Given the description of an element on the screen output the (x, y) to click on. 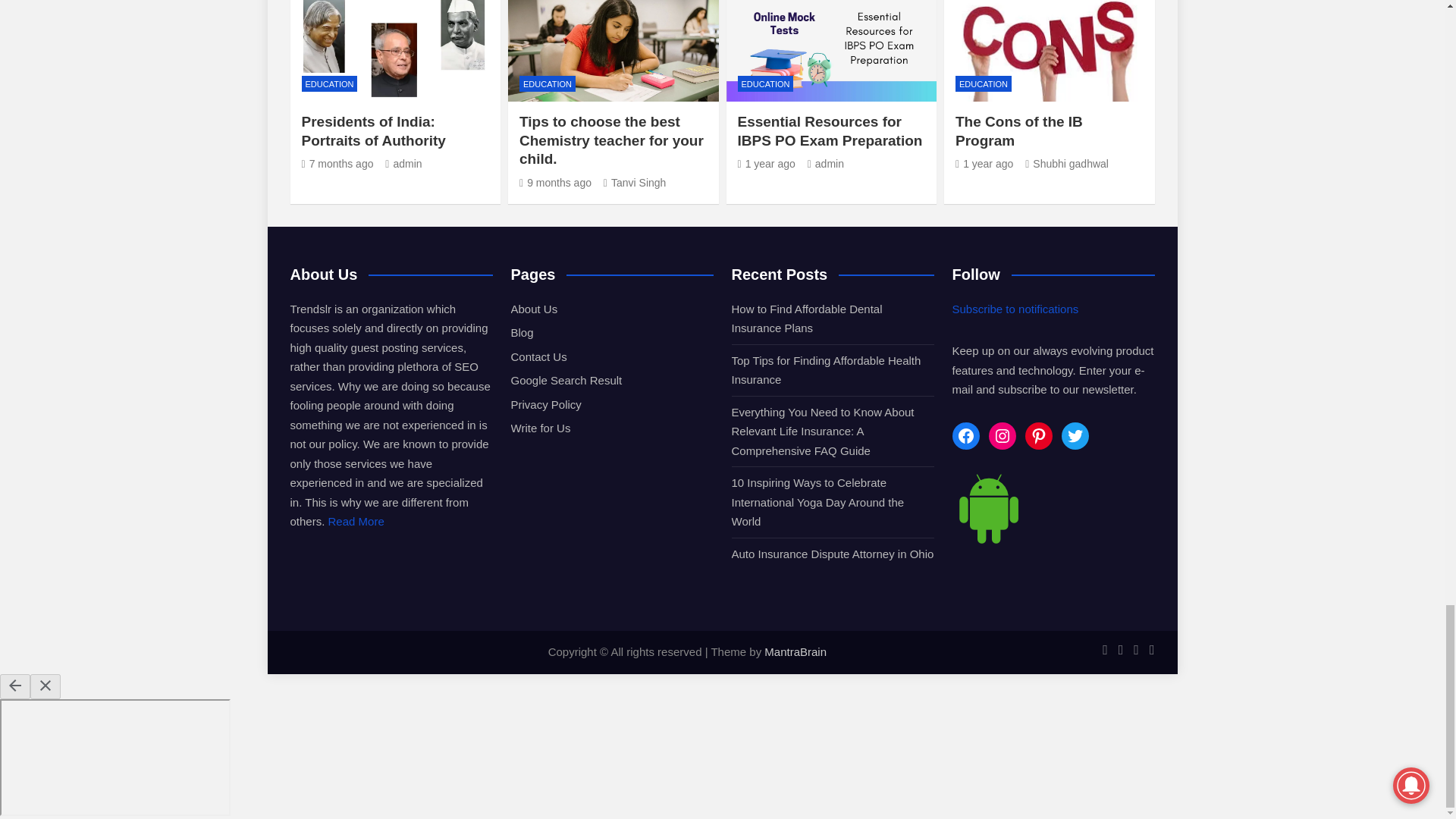
Essential Resources for IBPS PO Exam Preparation (765, 163)
The Cons of the IB Program (984, 163)
Tips to choose the best Chemistry teacher for your child. (555, 182)
MantraBrain (795, 651)
